Given the description of an element on the screen output the (x, y) to click on. 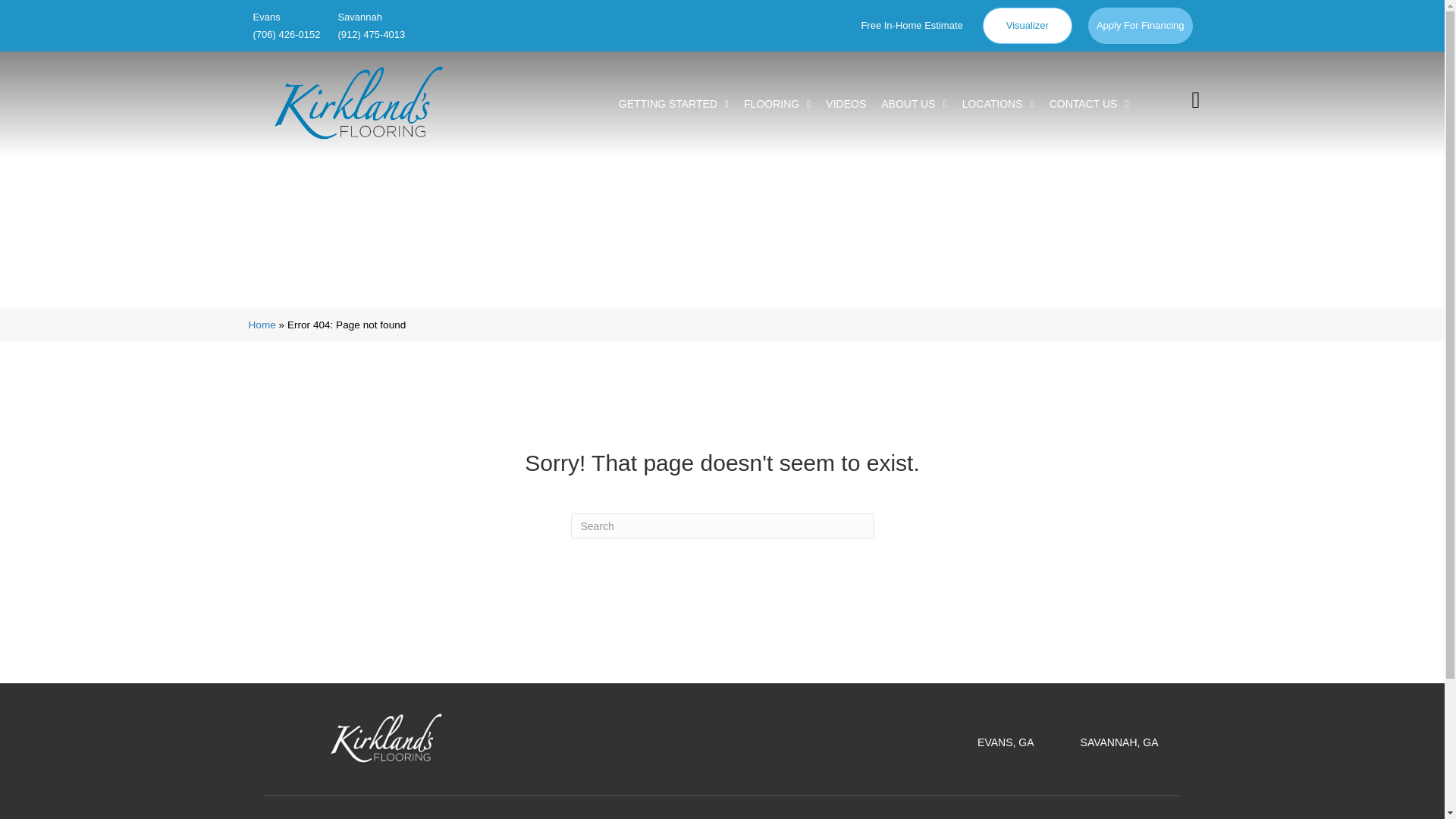
Apply For Financing (1139, 25)
FLOORING (777, 103)
Type and press Enter to search. (721, 525)
kirkland-colored-logo (357, 101)
whitelogodrop2 (387, 738)
GETTING STARTED (673, 103)
Evans (285, 16)
Free In-Home Estimate (911, 25)
Savannah (371, 16)
Visualizer (1026, 25)
